Given the description of an element on the screen output the (x, y) to click on. 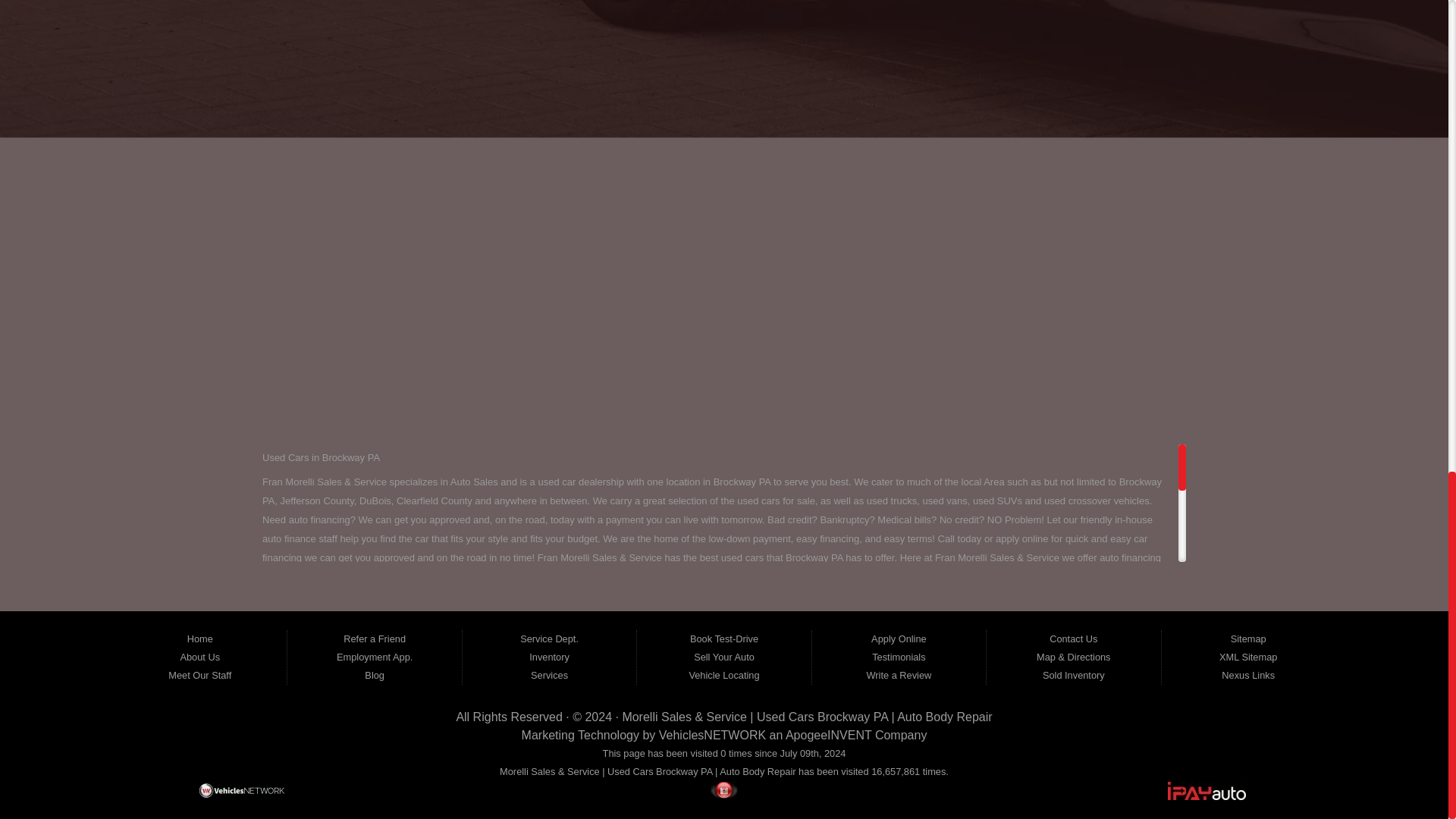
IPayAuto (1206, 791)
Vehicles Network (240, 791)
